Given the description of an element on the screen output the (x, y) to click on. 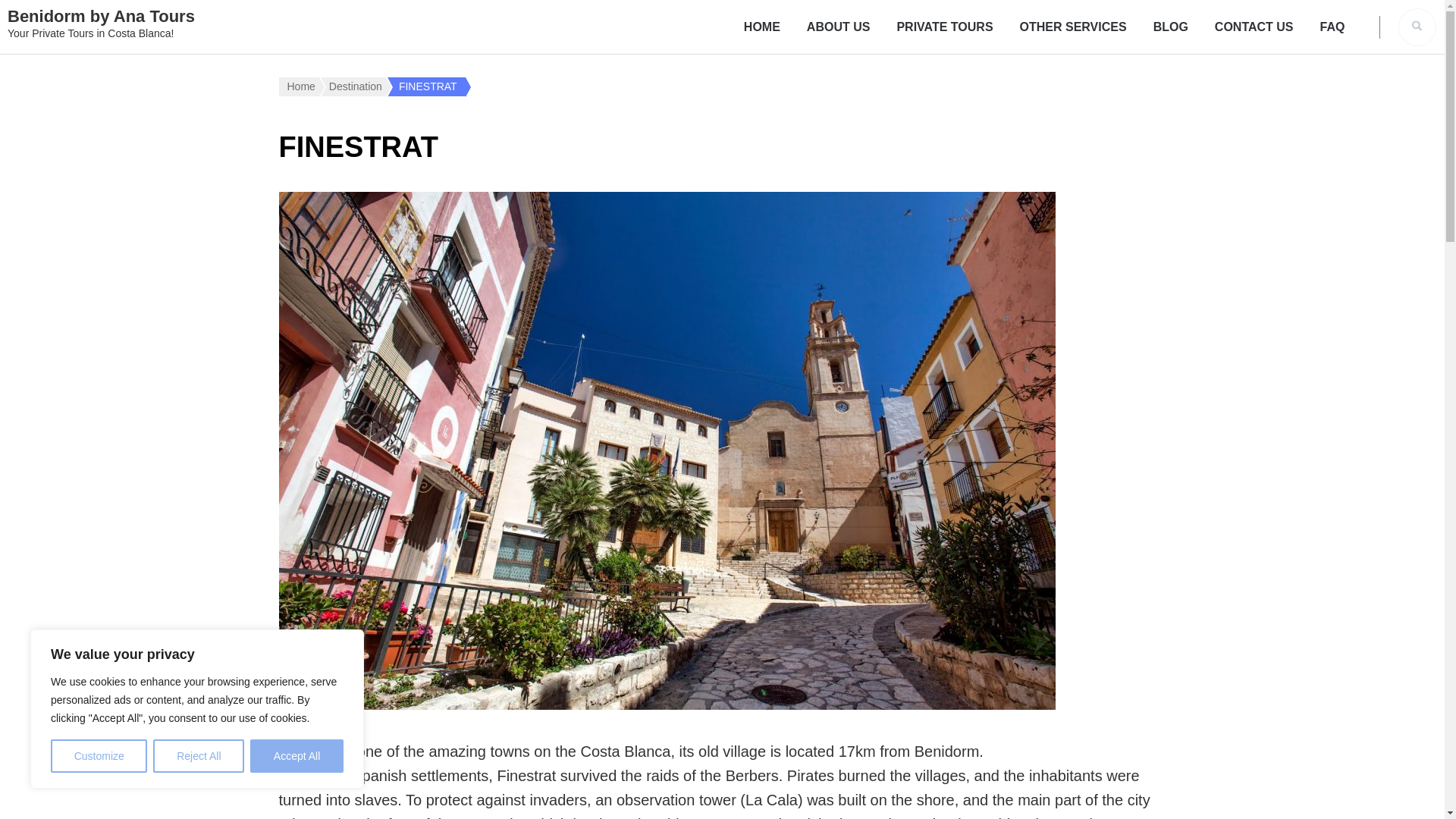
Accept All (296, 756)
Customize (98, 756)
Benidorm by Ana Tours (101, 15)
Reject All (198, 756)
